Given the description of an element on the screen output the (x, y) to click on. 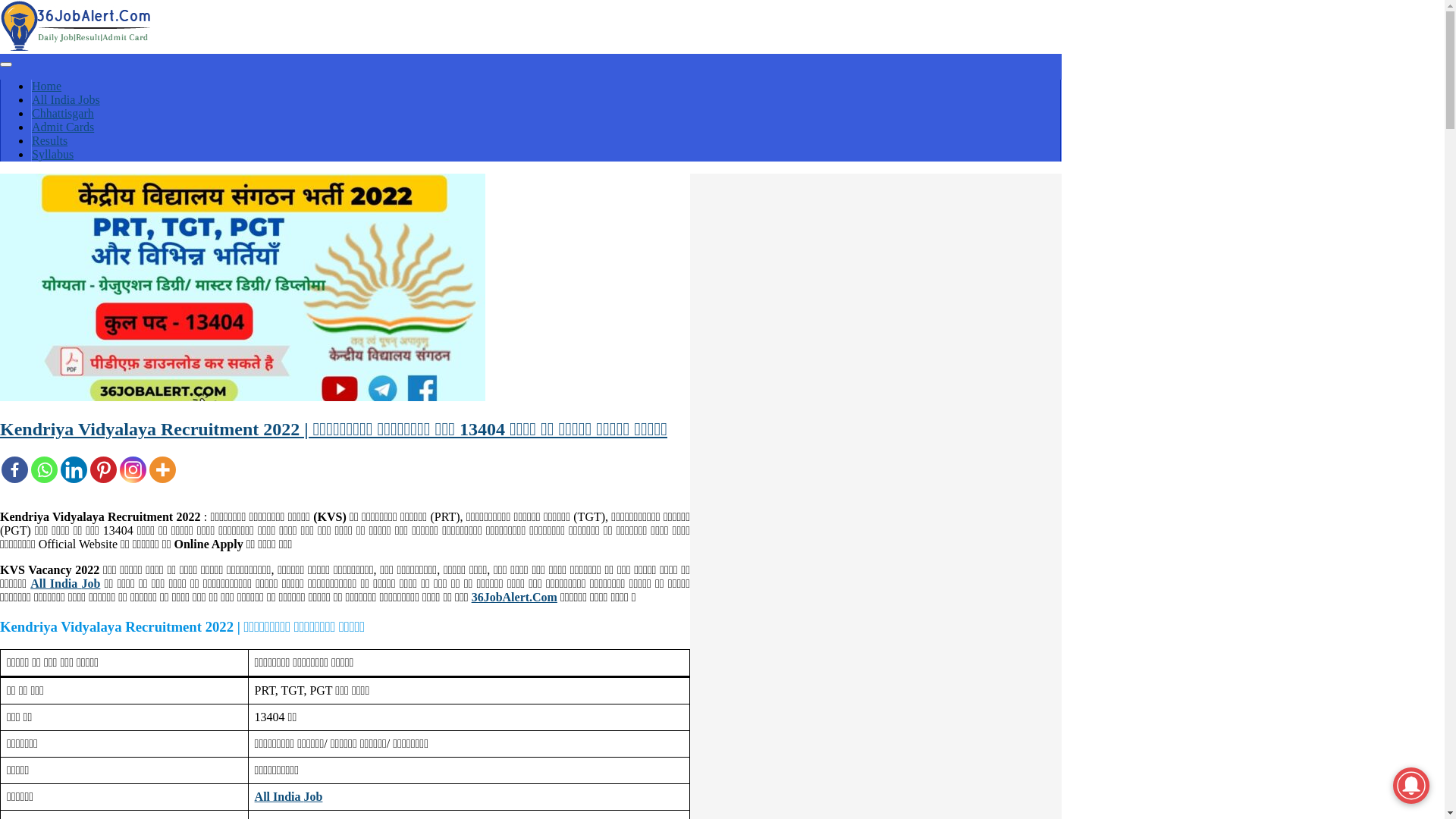
Home Element type: text (46, 85)
Admit Cards Element type: text (62, 126)
Facebook Element type: hover (14, 469)
36JobAlert.Com Element type: text (514, 596)
Linkedin Element type: hover (73, 469)
Results Element type: text (49, 140)
Chhattisgarh Element type: text (62, 112)
More Element type: hover (162, 469)
Instagram Element type: hover (132, 469)
All India Jobs Element type: text (65, 99)
All India Job Element type: text (65, 583)
Syllabus Element type: text (52, 153)
All India Job Element type: text (288, 796)
Whatsapp Element type: hover (44, 469)
Pinterest Element type: hover (103, 469)
